Given the description of an element on the screen output the (x, y) to click on. 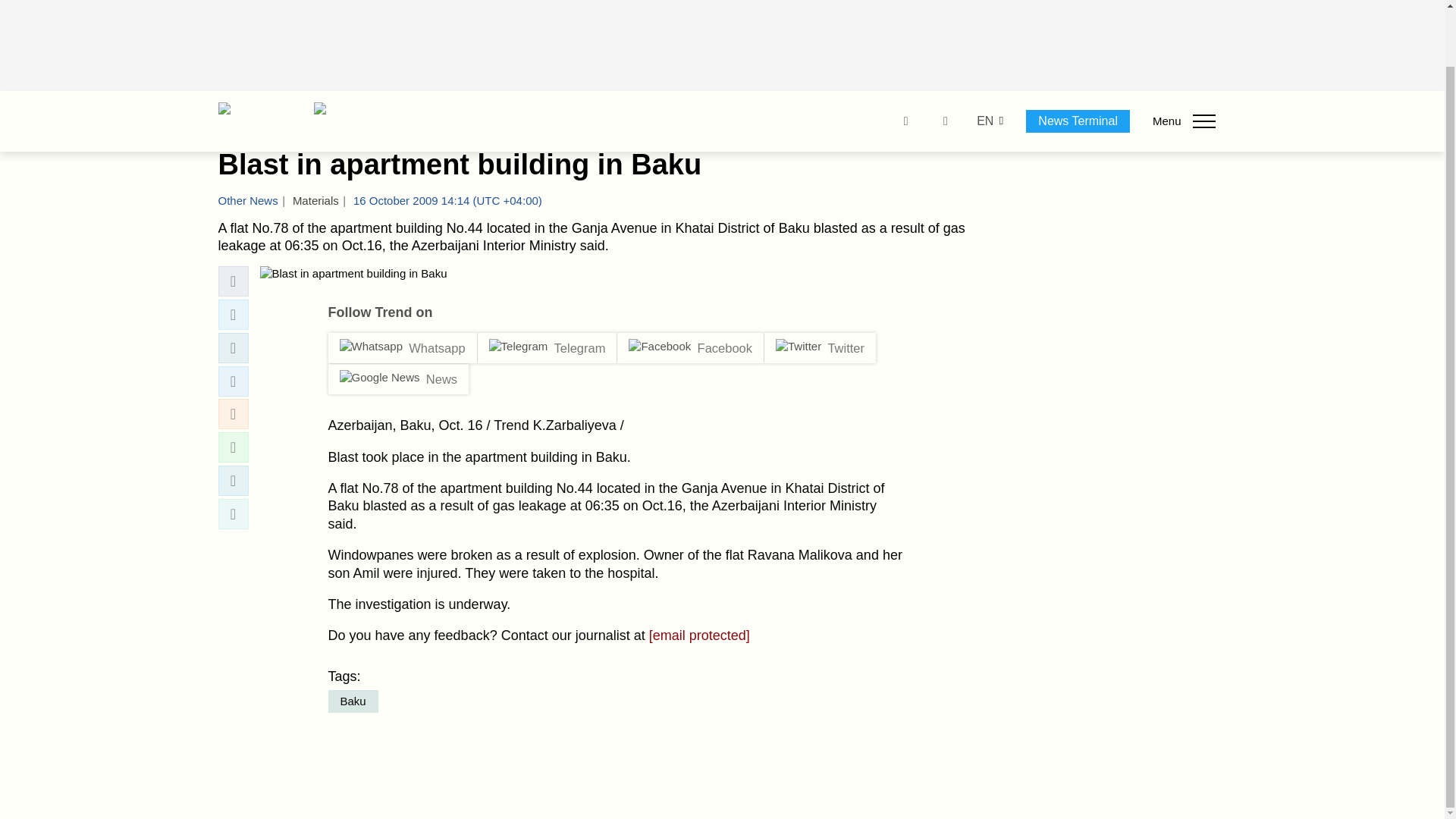
English (984, 60)
News Terminal (1077, 59)
EN (984, 60)
